Given the description of an element on the screen output the (x, y) to click on. 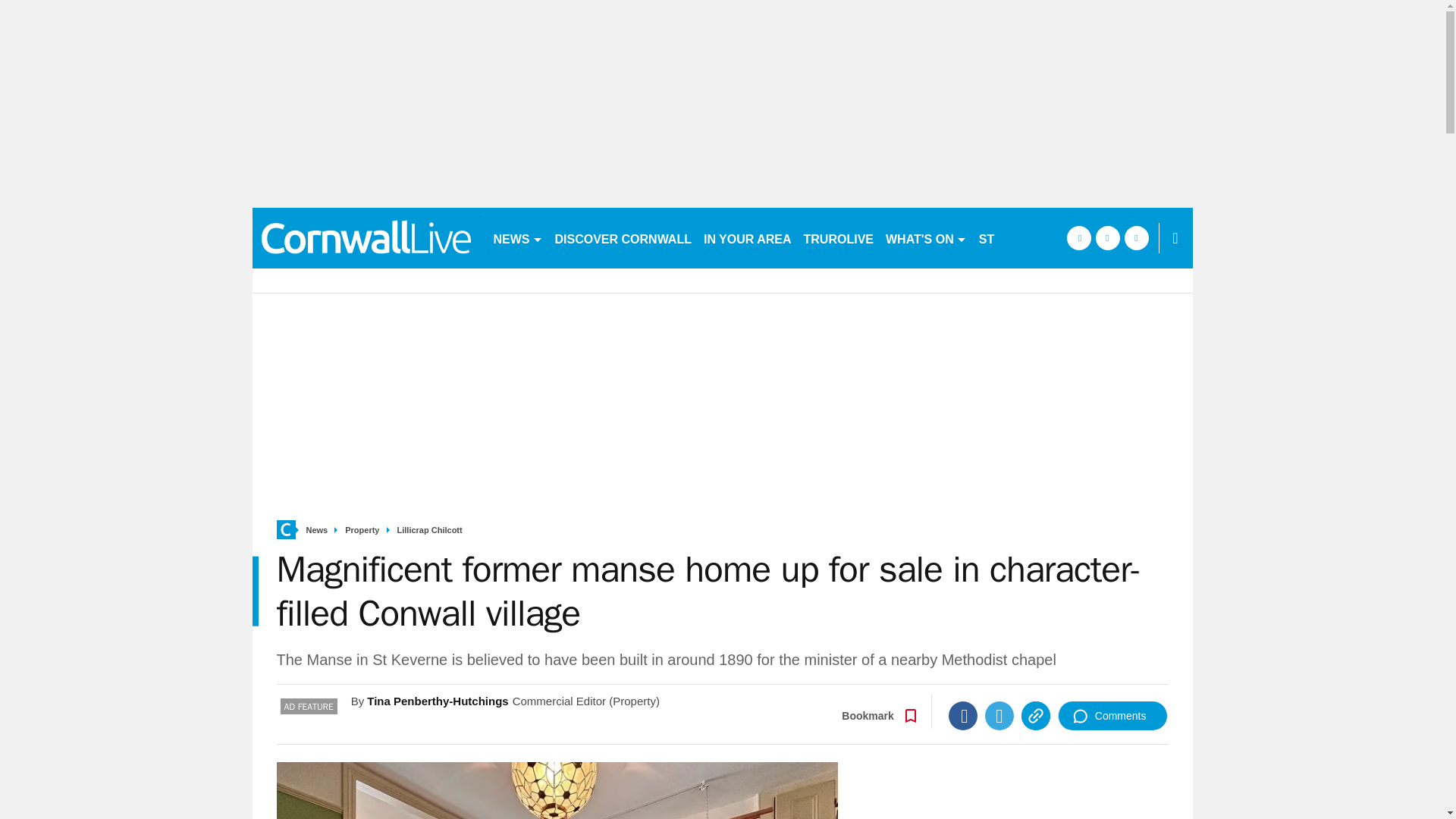
cornwalllive (365, 238)
Comments (1112, 715)
IN YOUR AREA (747, 238)
Twitter (999, 715)
facebook (1077, 238)
instagram (1136, 238)
WHAT'S ON (925, 238)
TRUROLIVE (838, 238)
DISCOVER CORNWALL (622, 238)
twitter (1106, 238)
